Given the description of an element on the screen output the (x, y) to click on. 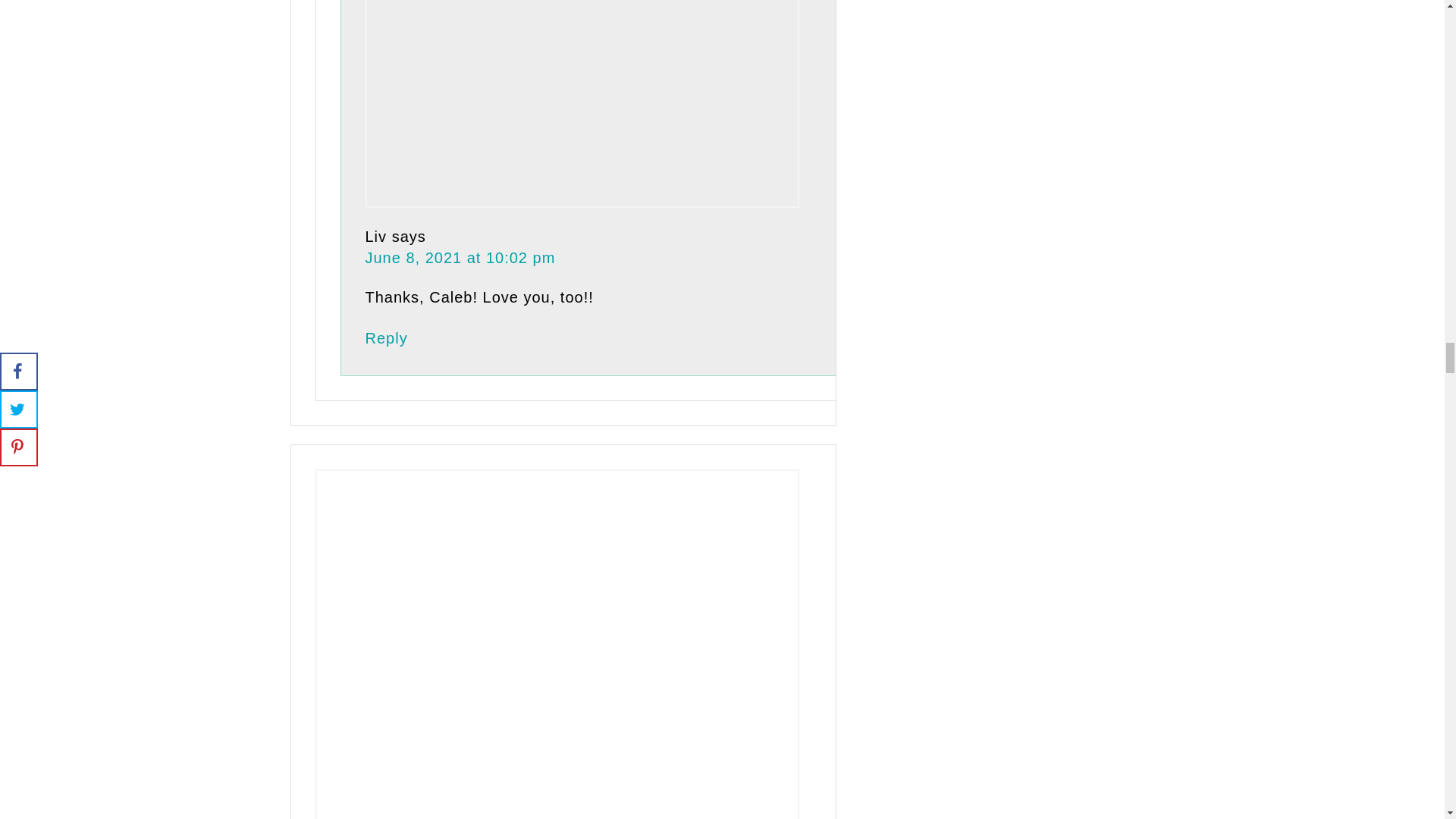
June 8, 2021 at 10:02 pm (460, 257)
Reply (386, 338)
